Given the description of an element on the screen output the (x, y) to click on. 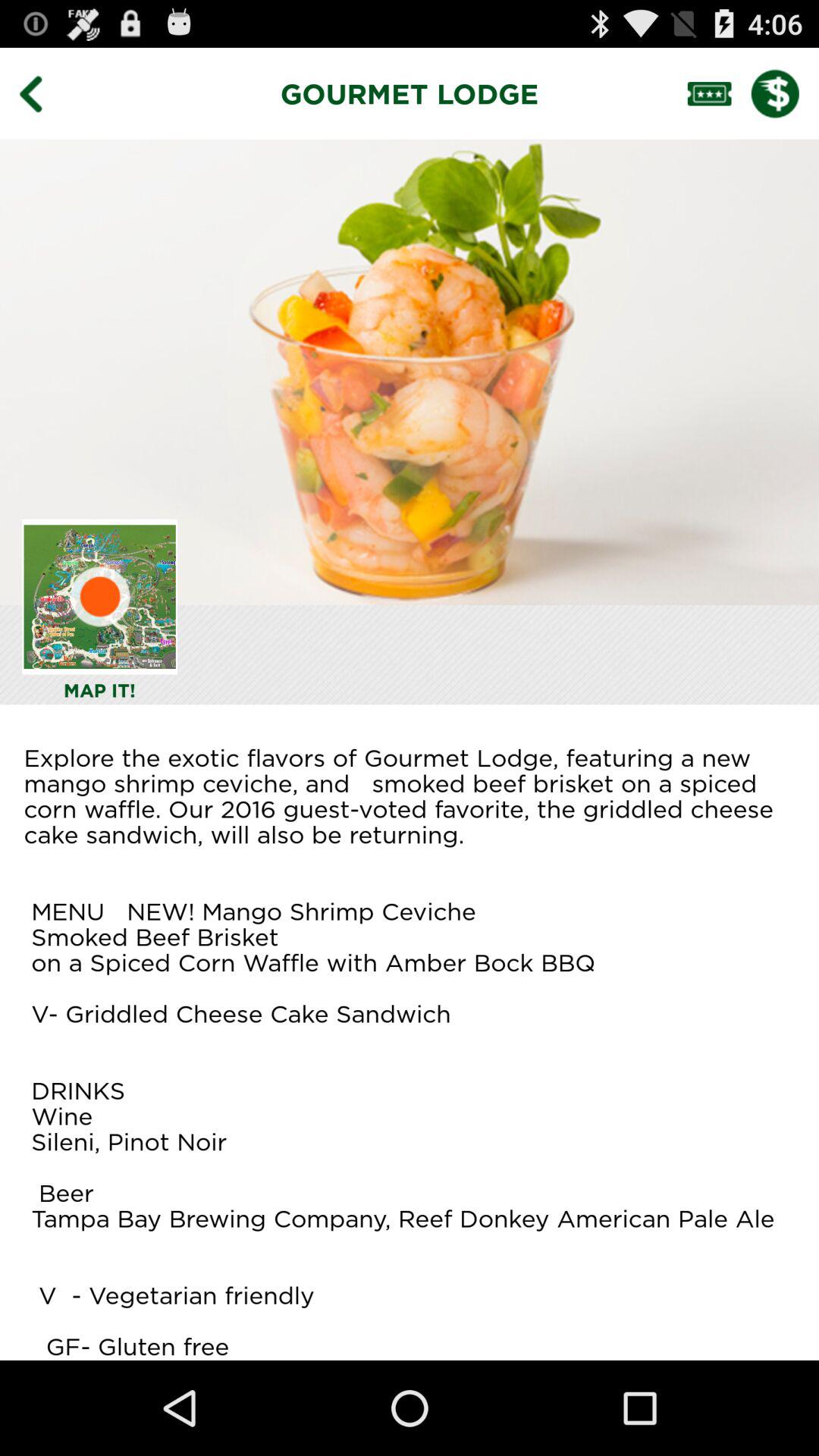
find directions to destination (99, 596)
